Given the description of an element on the screen output the (x, y) to click on. 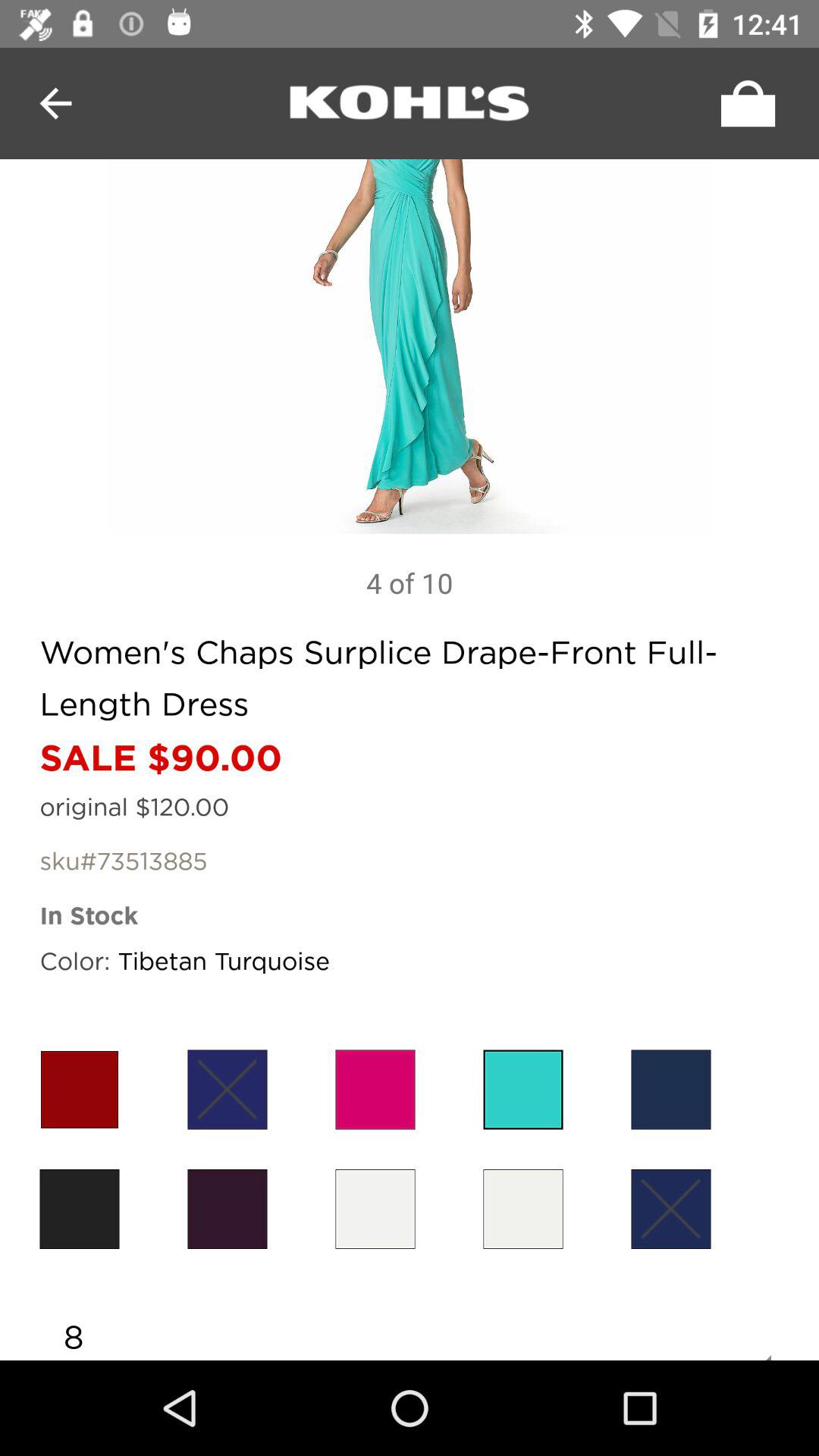
go back to home (409, 103)
